Given the description of an element on the screen output the (x, y) to click on. 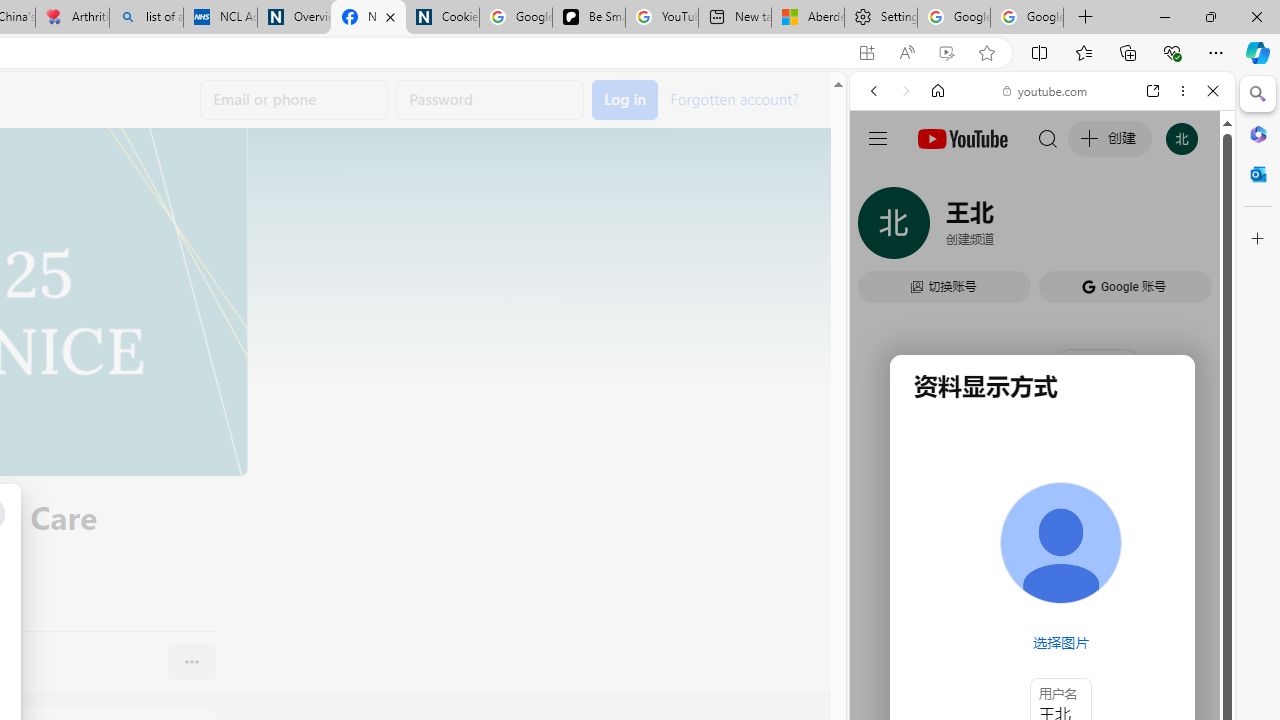
Open link in new tab (1153, 91)
Global web icon (888, 288)
WEB   (882, 228)
Show More Music (1164, 546)
Be Smart | creating Science videos | Patreon (588, 17)
youtube.com (1046, 90)
Email or phone (294, 99)
